Given the description of an element on the screen output the (x, y) to click on. 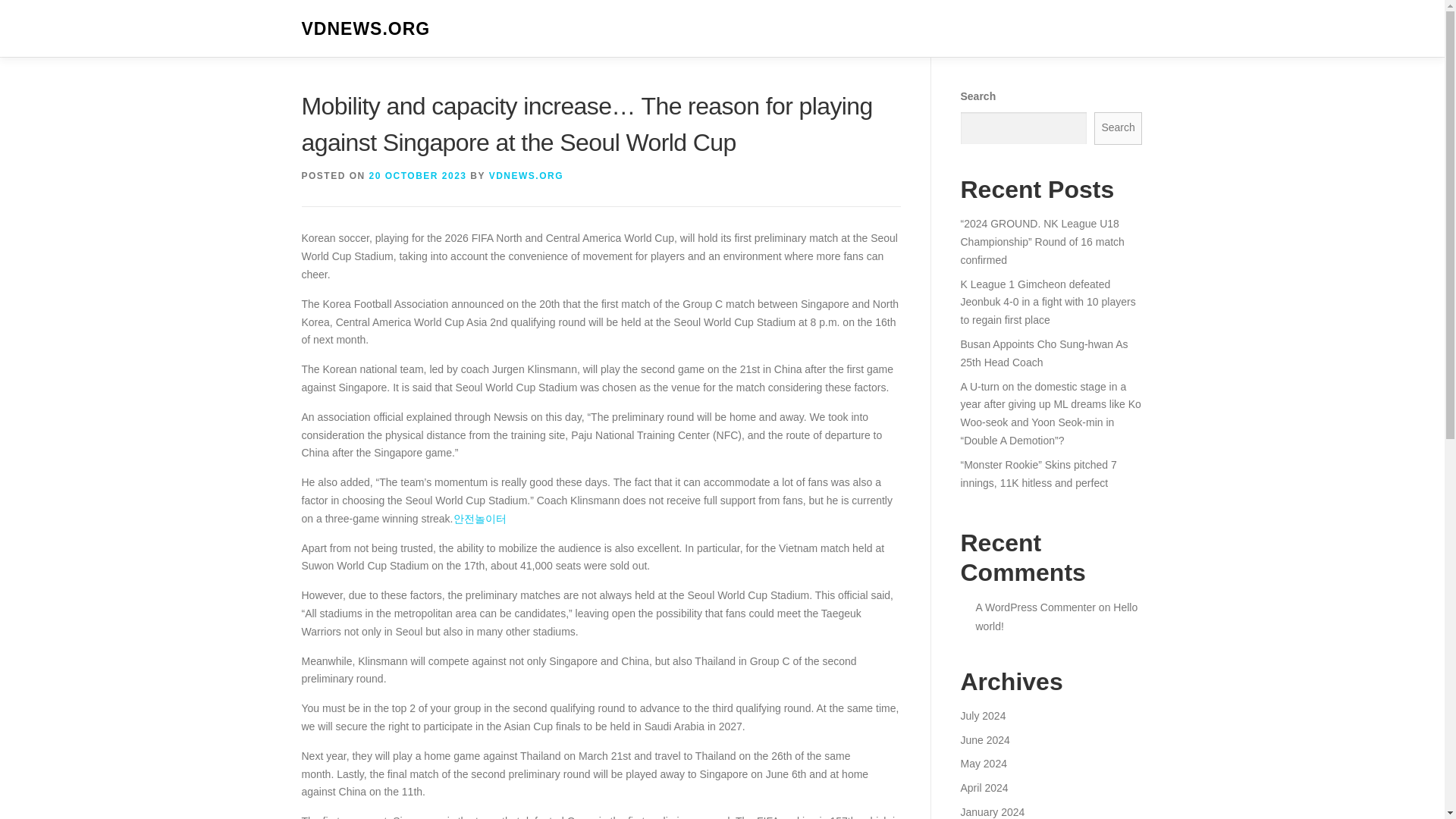
Search (1118, 128)
20 OCTOBER 2023 (418, 175)
A WordPress Commenter (1034, 607)
July 2024 (982, 715)
January 2024 (992, 811)
Busan Appoints Cho Sung-hwan As 25th Head Coach (1042, 353)
VDNEWS.ORG (365, 29)
VDNEWS.ORG (526, 175)
May 2024 (982, 763)
Hello world! (1056, 616)
April 2024 (983, 787)
June 2024 (984, 739)
